Given the description of an element on the screen output the (x, y) to click on. 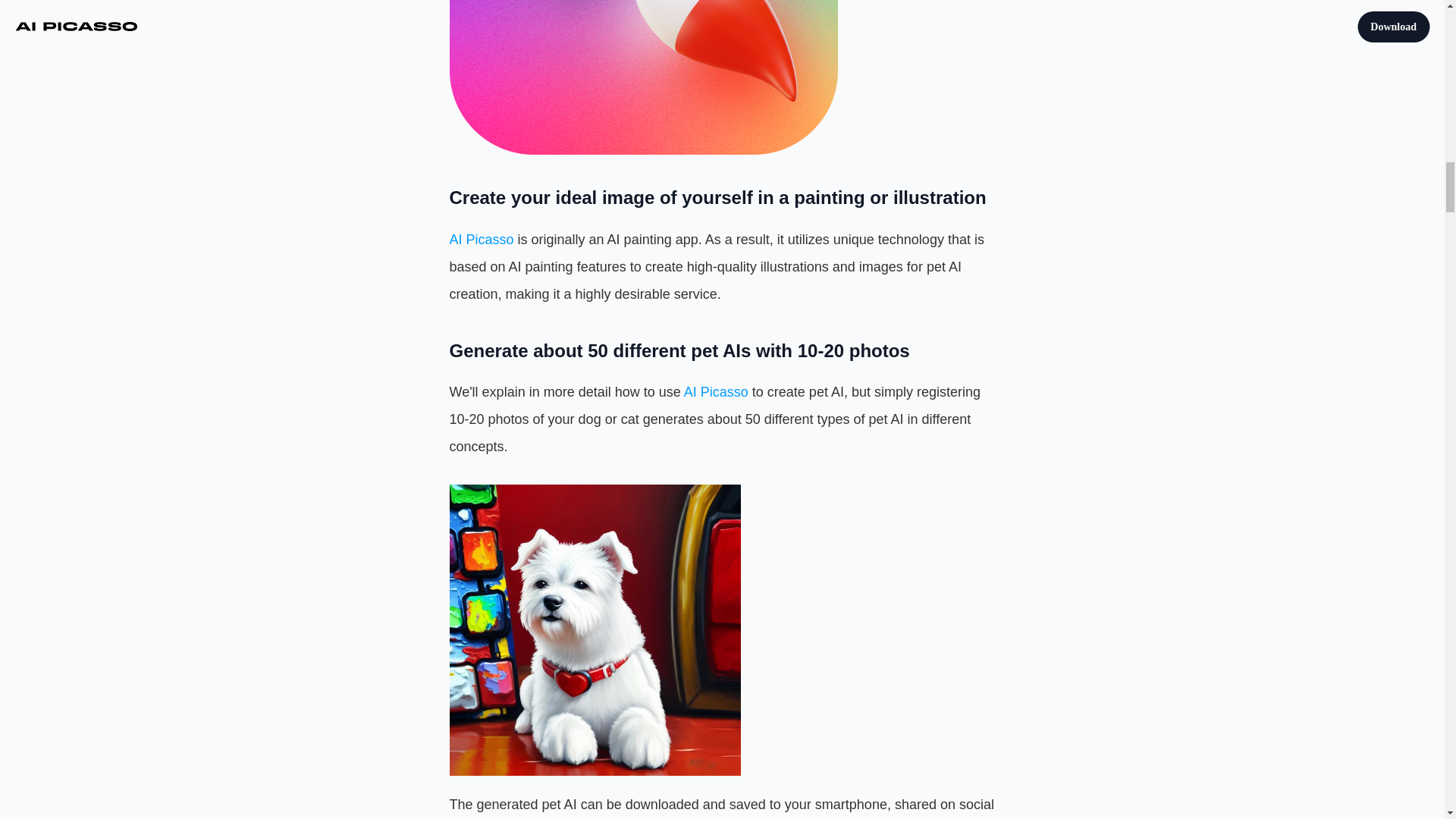
AI Picasso (480, 239)
AI Picasso (716, 391)
